Given the description of an element on the screen output the (x, y) to click on. 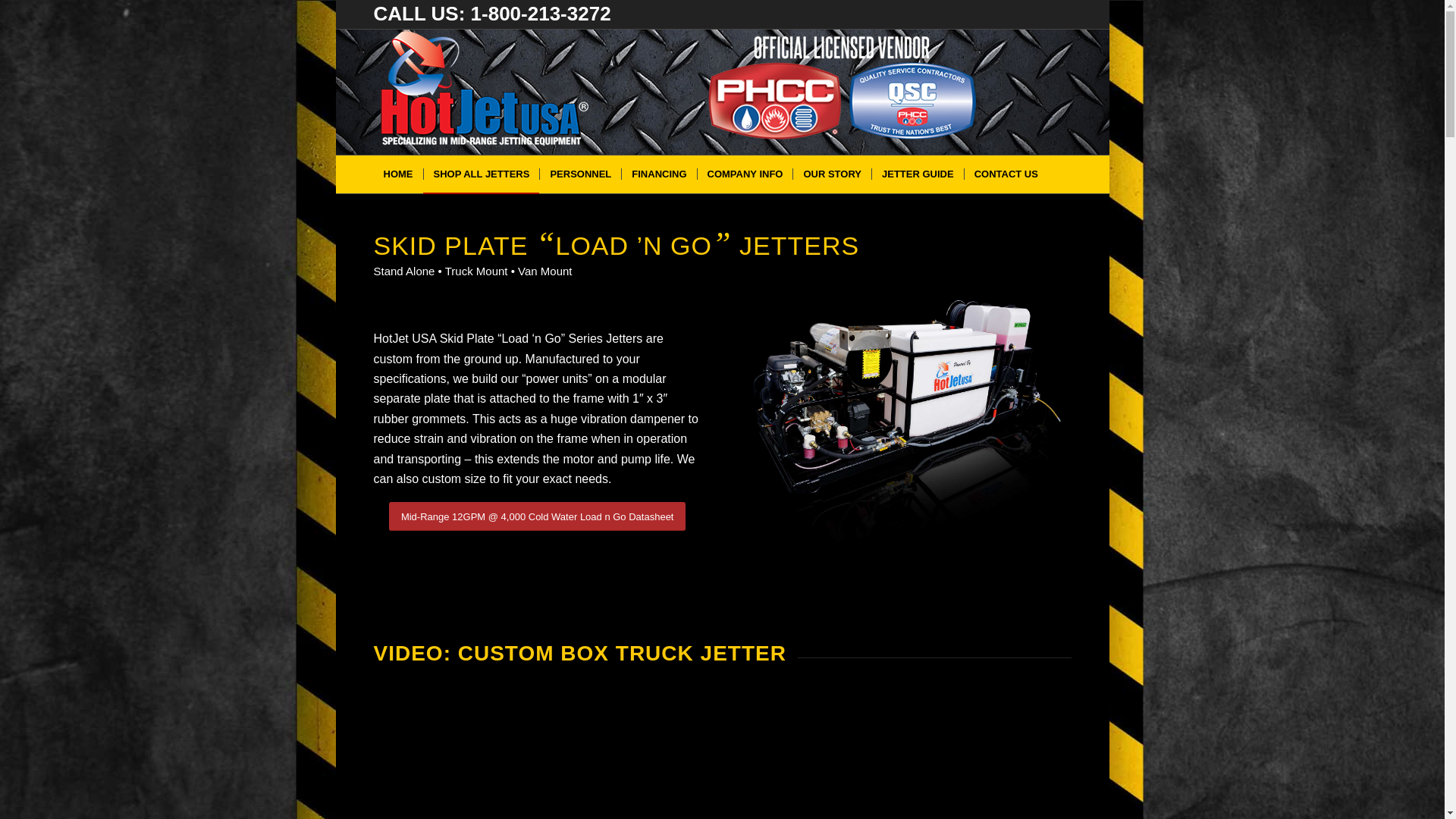
FINANCING (658, 174)
PERSONNEL (579, 174)
HOME (397, 174)
SHOP ALL JETTERS (481, 174)
